Given the description of an element on the screen output the (x, y) to click on. 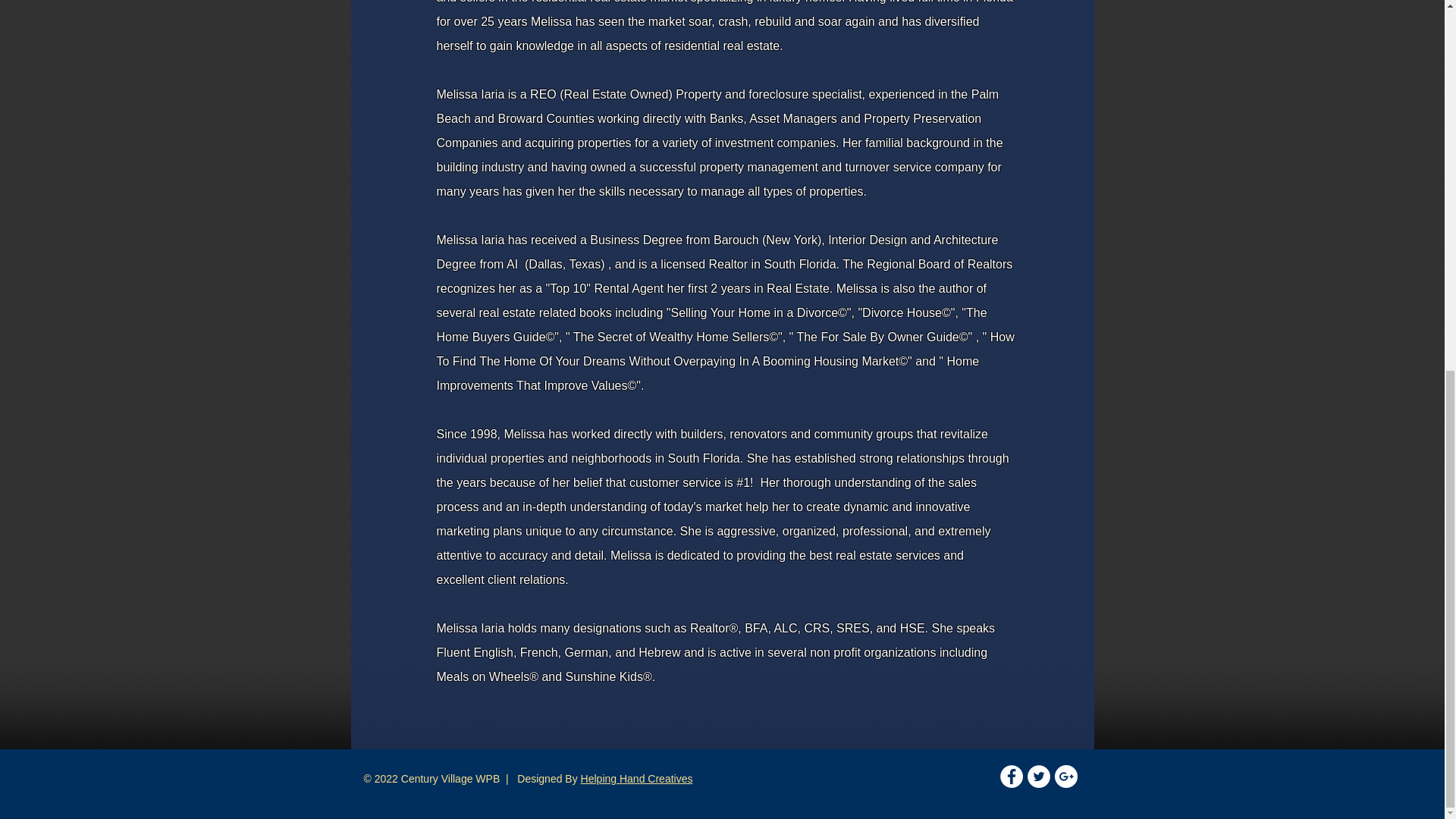
Helping Hand Creatives (636, 778)
